Given the description of an element on the screen output the (x, y) to click on. 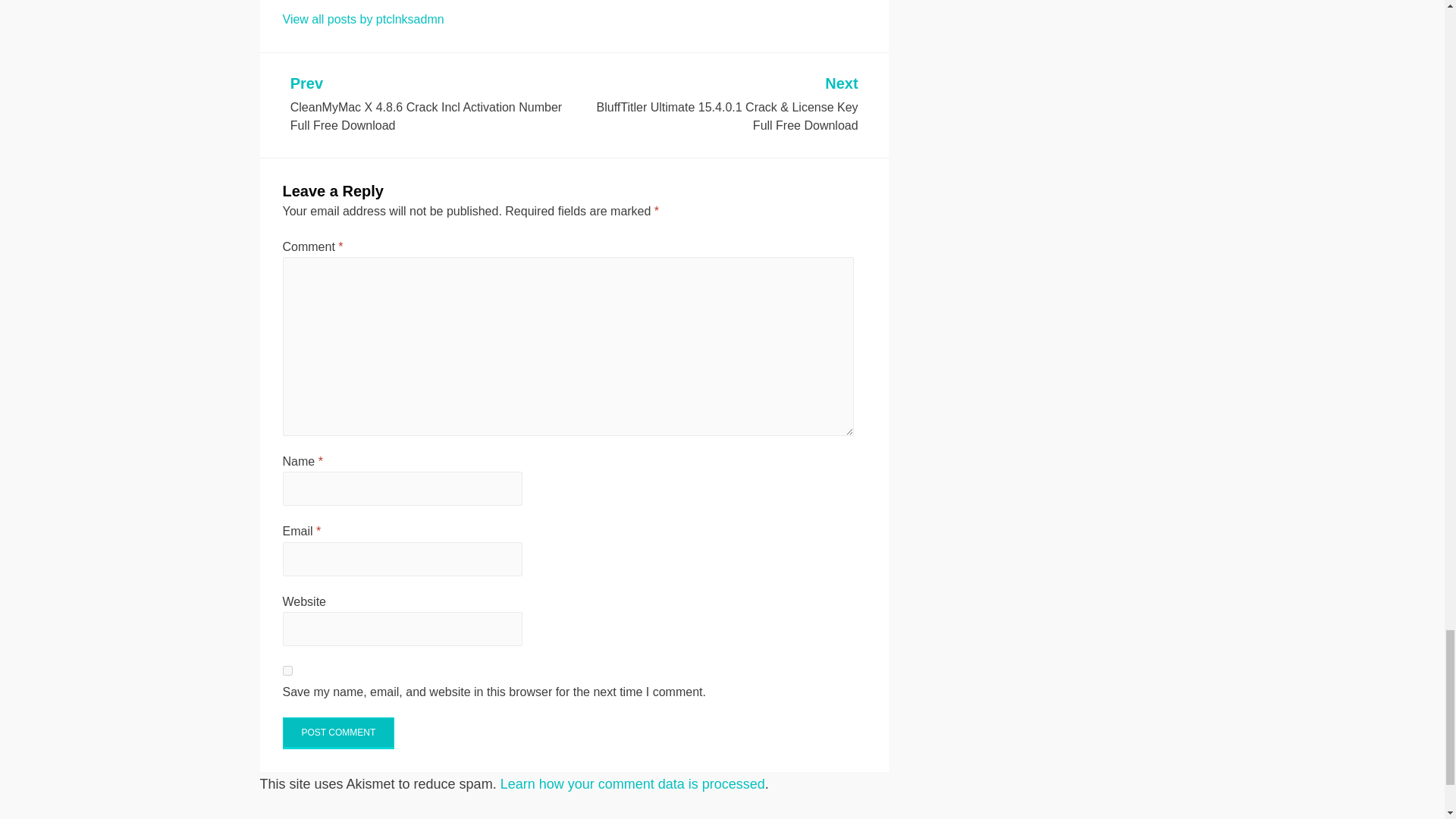
yes (287, 670)
Post Comment (338, 733)
